Given the description of an element on the screen output the (x, y) to click on. 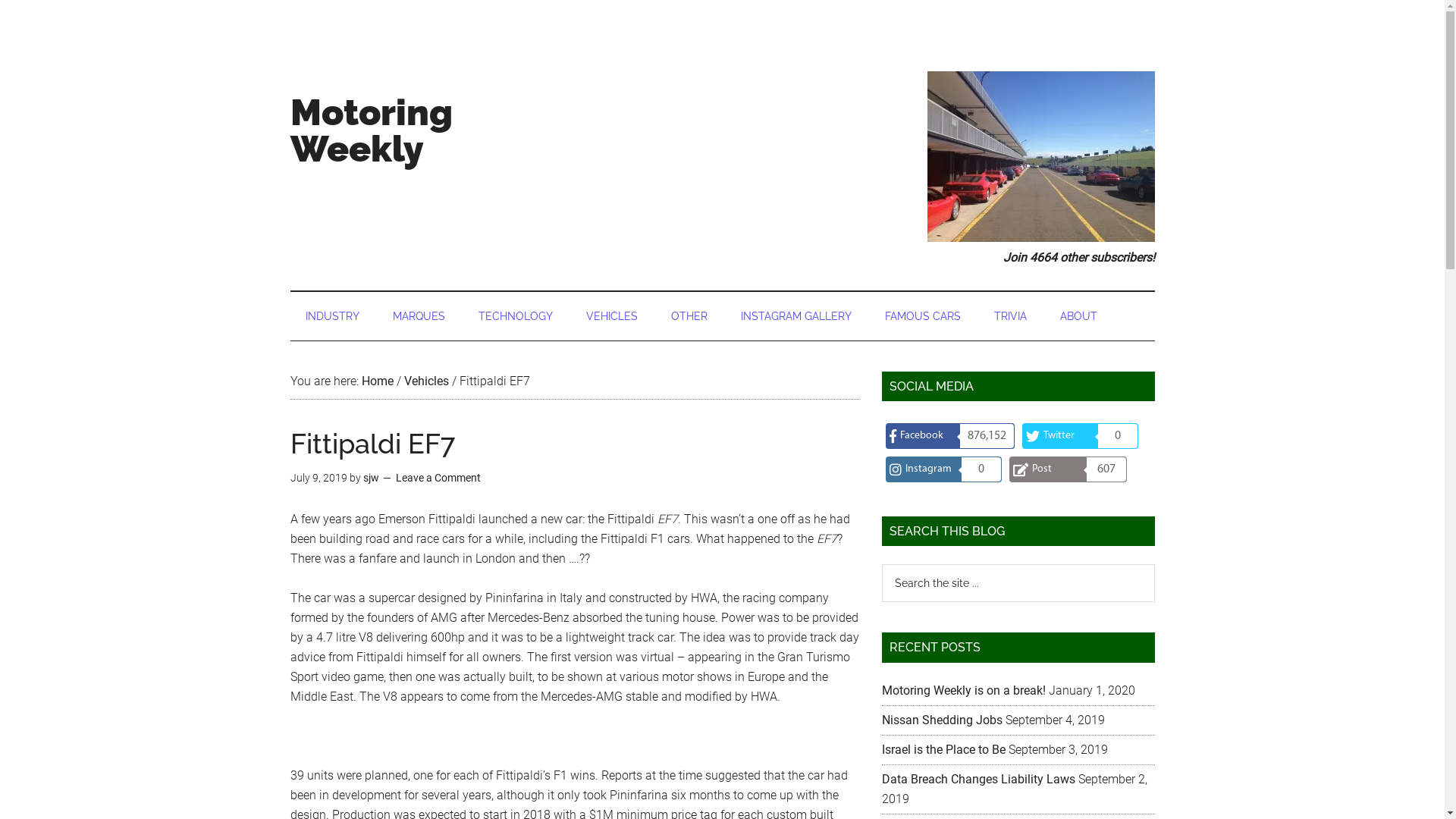
INSTAGRAM GALLERY Element type: text (795, 315)
FAMOUS CARS Element type: text (922, 315)
Motoring Weekly Element type: text (370, 130)
Home Element type: text (376, 380)
Twitter 0 Element type: text (1080, 435)
VEHICLES Element type: text (611, 315)
Motoring Weekly is on a break! Element type: text (962, 690)
Data Breach Changes Liability Laws Element type: text (977, 778)
TRIVIA Element type: text (1009, 315)
Instagram 0 Element type: text (943, 469)
ABOUT Element type: text (1078, 315)
MARQUES Element type: text (418, 315)
Nissan Shedding Jobs Element type: text (941, 719)
Israel is the Place to Be Element type: text (942, 749)
Search Element type: text (1154, 563)
INDUSTRY Element type: text (331, 315)
Leave a Comment Element type: text (437, 477)
Facebook 876,152 Element type: text (949, 435)
sjw Element type: text (370, 477)
Vehicles Element type: text (425, 380)
Post 607 Element type: text (1067, 469)
TECHNOLOGY Element type: text (514, 315)
OTHER Element type: text (688, 315)
